Given the description of an element on the screen output the (x, y) to click on. 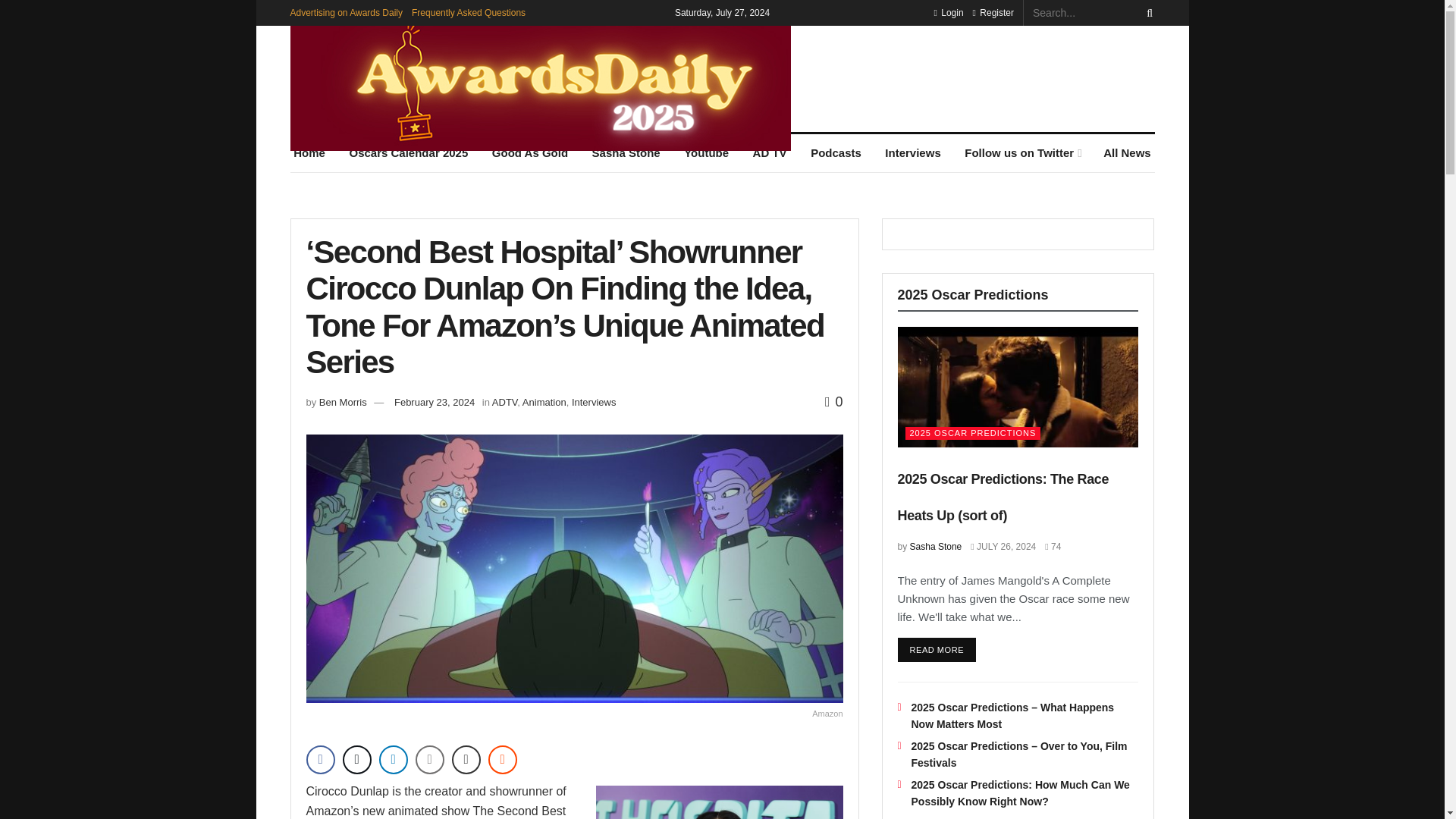
All News (1126, 152)
Interviews (913, 152)
Home (309, 152)
Register (992, 12)
Oscars Calendar 2025 (408, 152)
Youtube (705, 152)
AD TV (769, 152)
Login (947, 12)
Good As Gold (529, 152)
Podcasts (835, 152)
Frequently Asked Questions (468, 12)
Advertising on Awards Daily (346, 12)
TV (769, 152)
Sasha Stone (625, 152)
Follow us on Twitter (1021, 152)
